Given the description of an element on the screen output the (x, y) to click on. 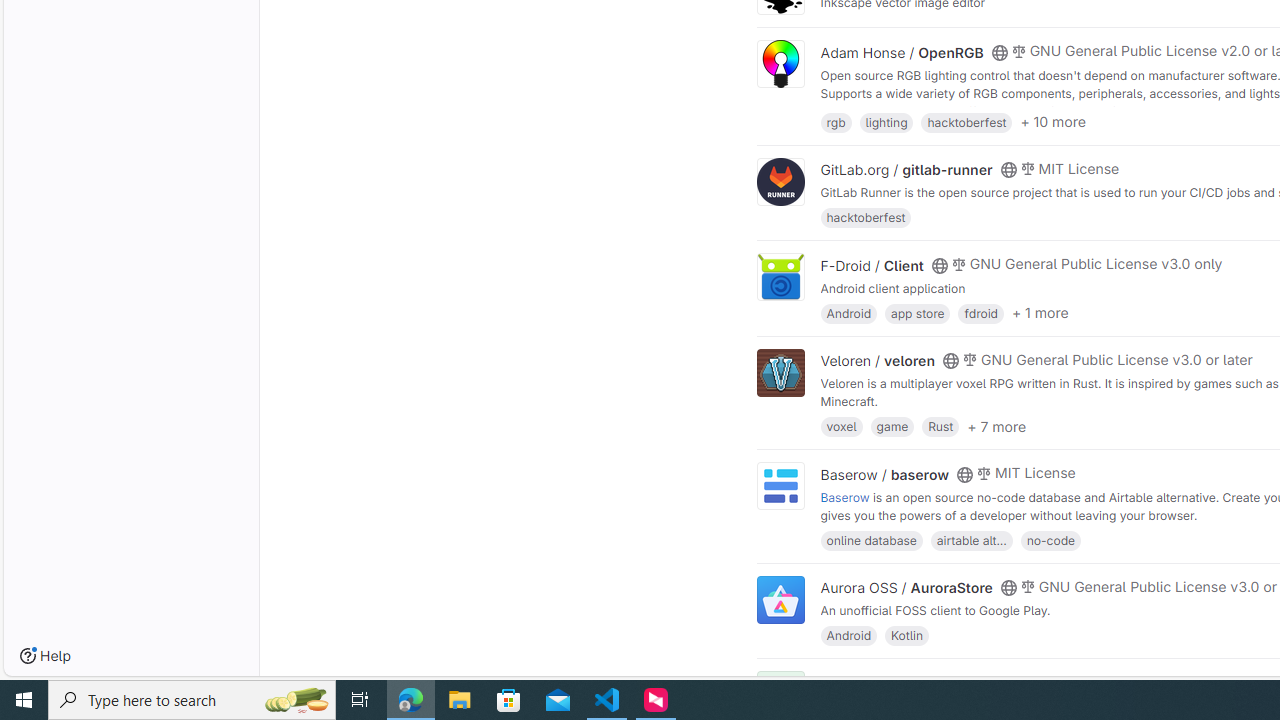
Veloren / veloren (877, 361)
GitLab.org / gitlab-runner (906, 170)
Class: s14 gl-mr-2 (1018, 681)
Class: s16 (999, 683)
F-Droid / Client (872, 265)
hacktoberfest (866, 217)
rgb (836, 120)
fdroid (980, 312)
Edouard Klein / falsisign (902, 682)
Android (848, 634)
Aurora OSS / AuroraStore (906, 587)
no-code (1050, 539)
lighting (886, 120)
Kotlin (907, 634)
